Given the description of an element on the screen output the (x, y) to click on. 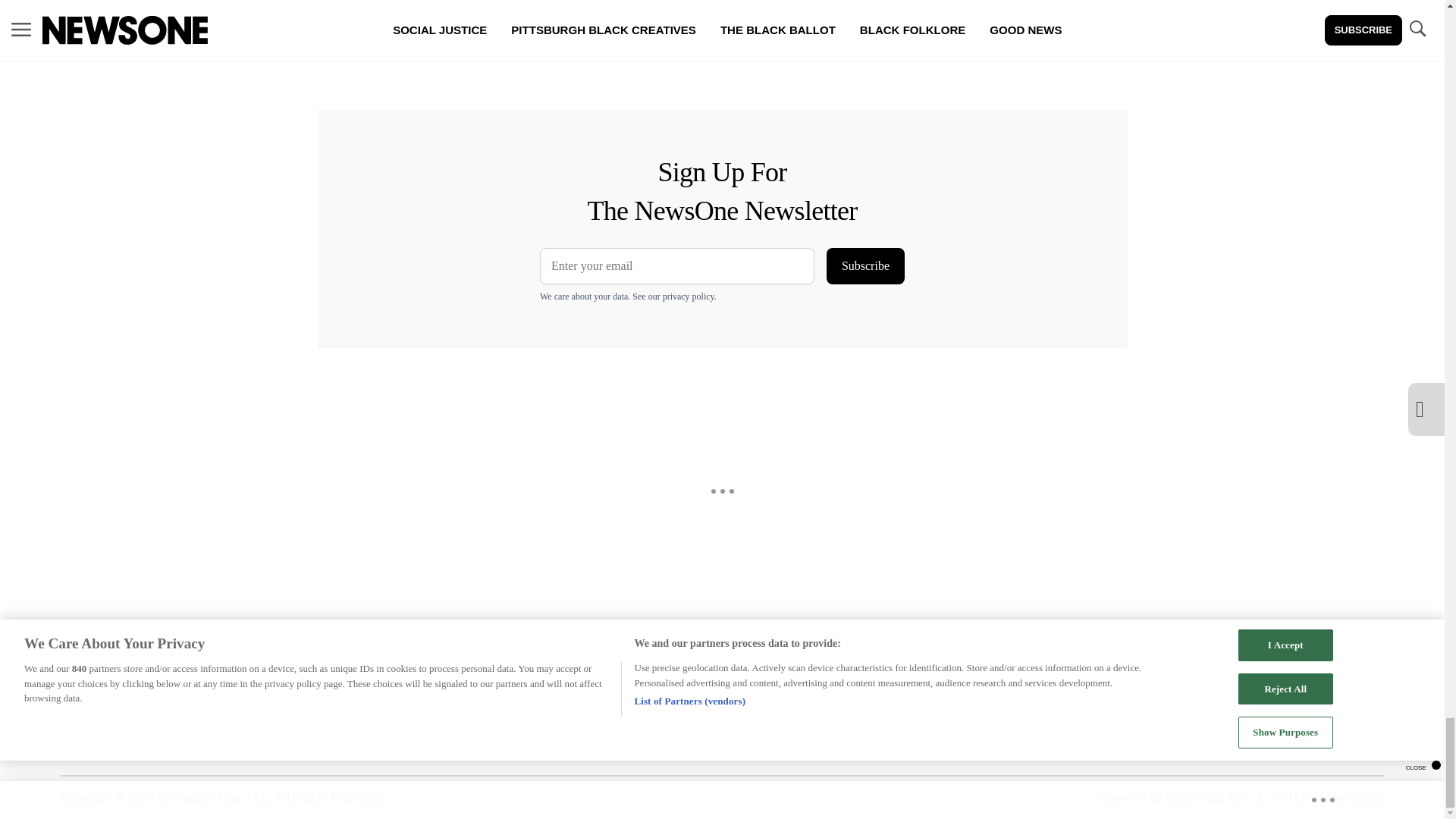
Vuukle Comments Widget (585, 54)
